Given the description of an element on the screen output the (x, y) to click on. 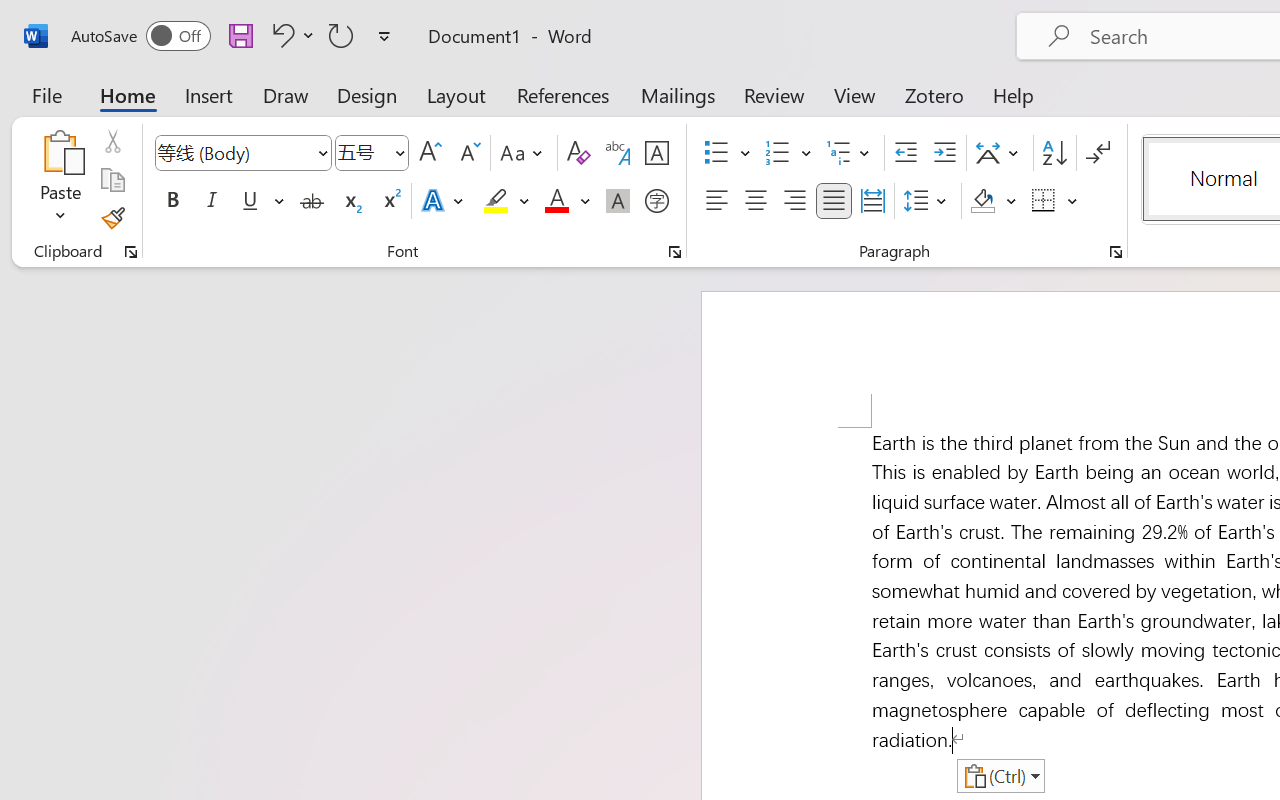
Text Effects and Typography (444, 201)
Center (756, 201)
